Given the description of an element on the screen output the (x, y) to click on. 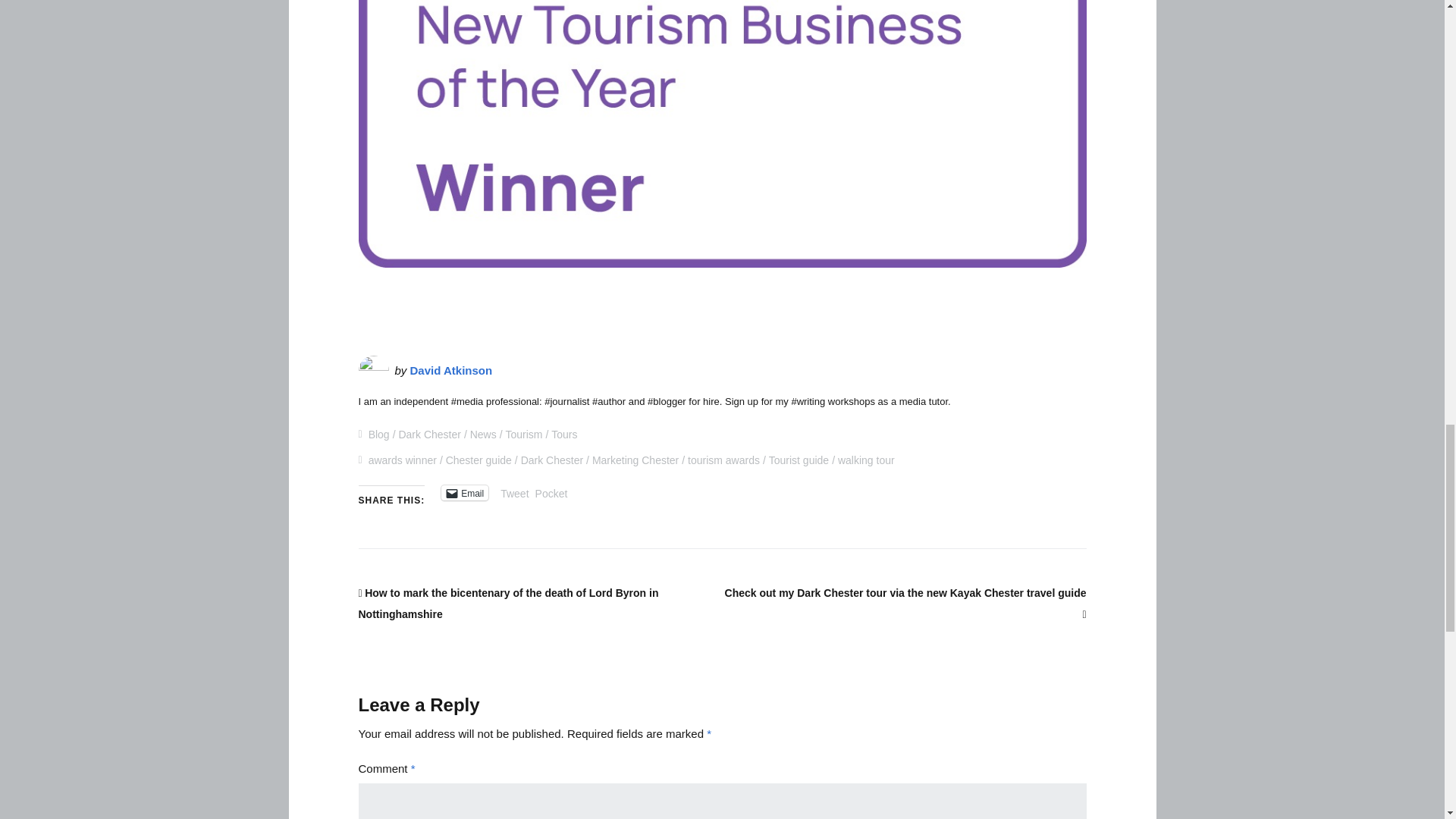
Pocket (551, 493)
Dark Chester (428, 434)
Chester guide (478, 460)
Tourist guide (798, 460)
tourism awards (723, 460)
Click to email a link to a friend (464, 492)
Dark Chester (552, 460)
Tours (563, 434)
Email (464, 492)
